Given the description of an element on the screen output the (x, y) to click on. 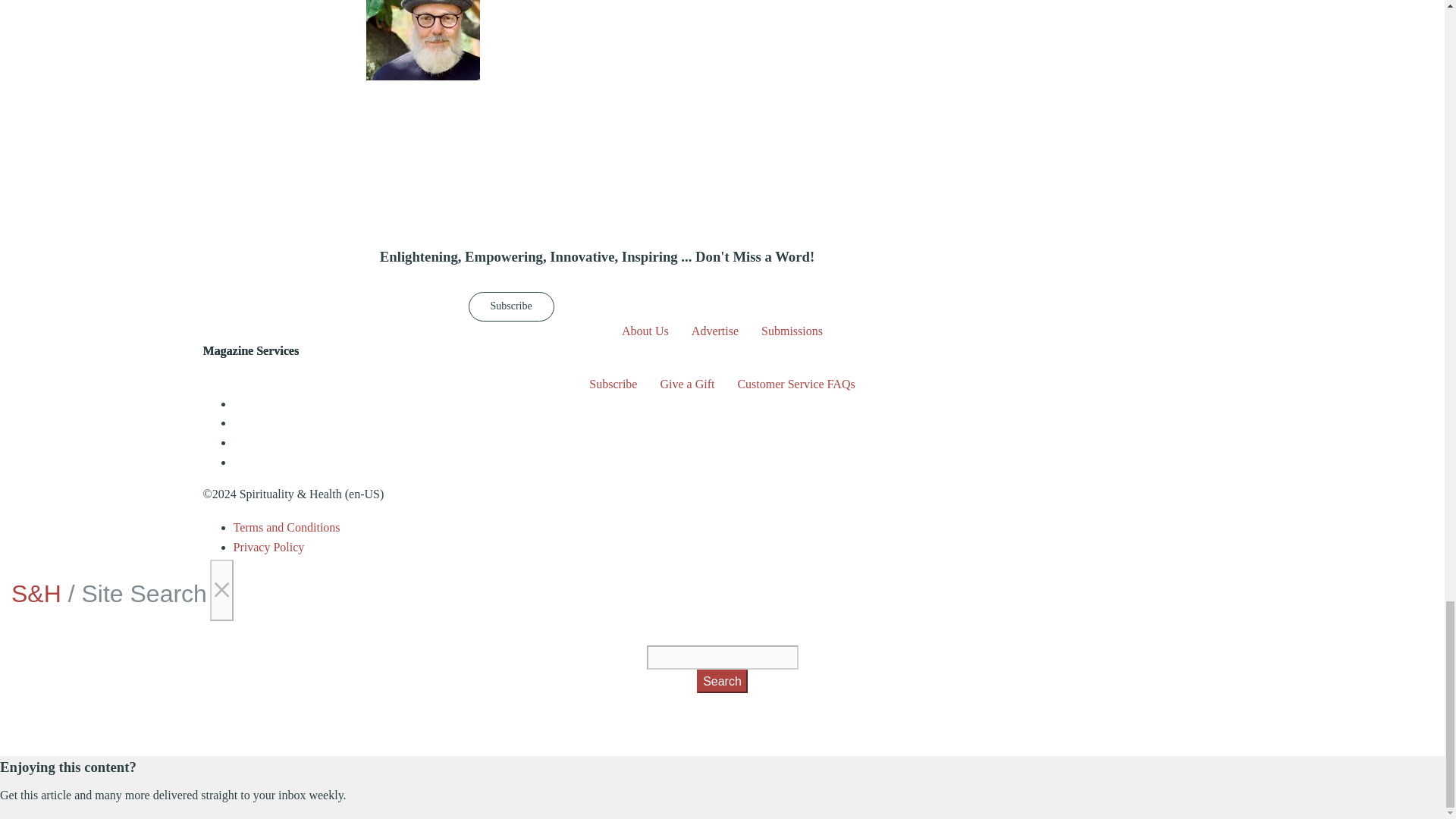
Search (722, 681)
